Given the description of an element on the screen output the (x, y) to click on. 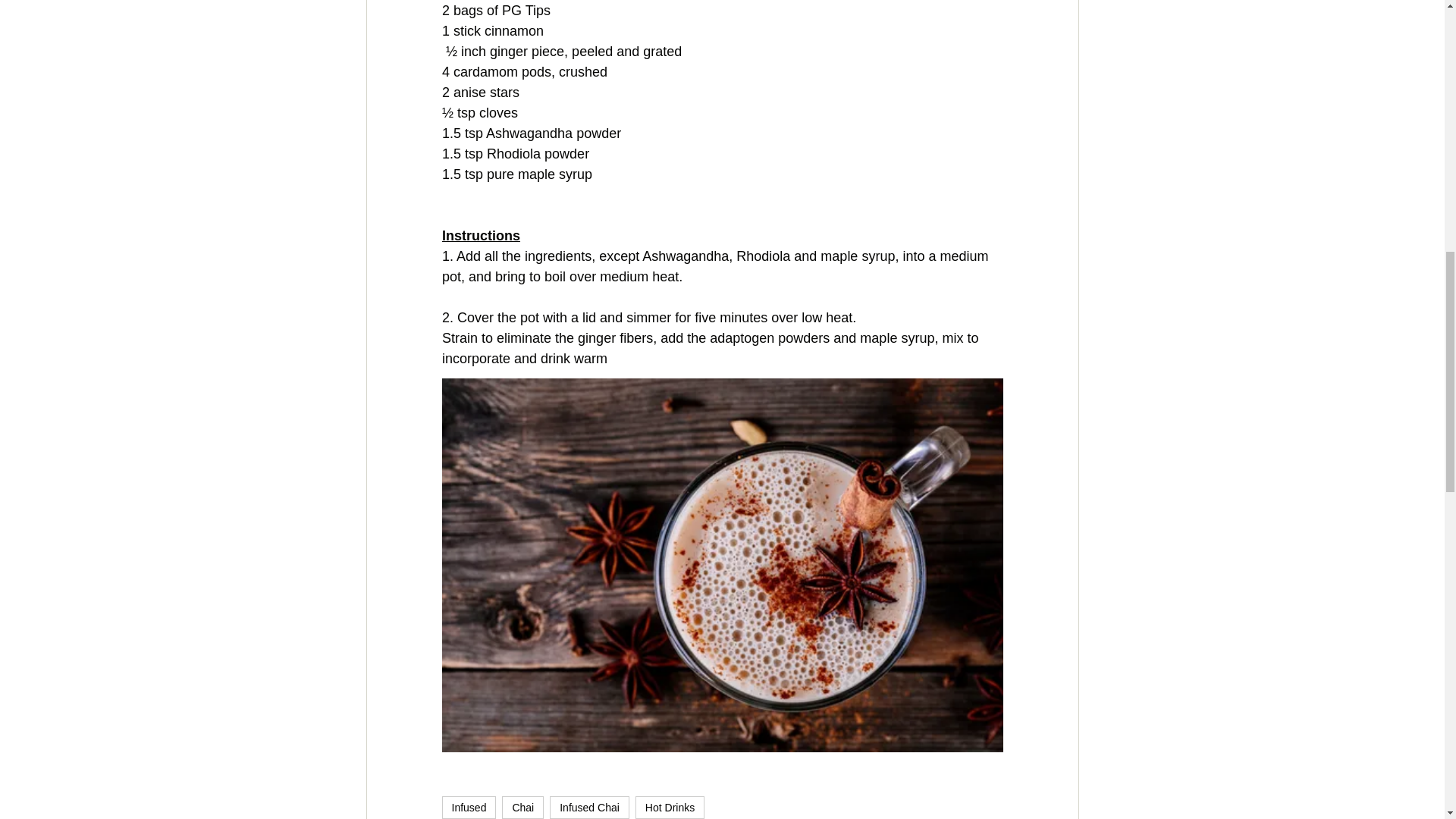
Chai (522, 807)
Infused (468, 807)
Hot Drinks (669, 807)
Infused Chai (589, 807)
